Given the description of an element on the screen output the (x, y) to click on. 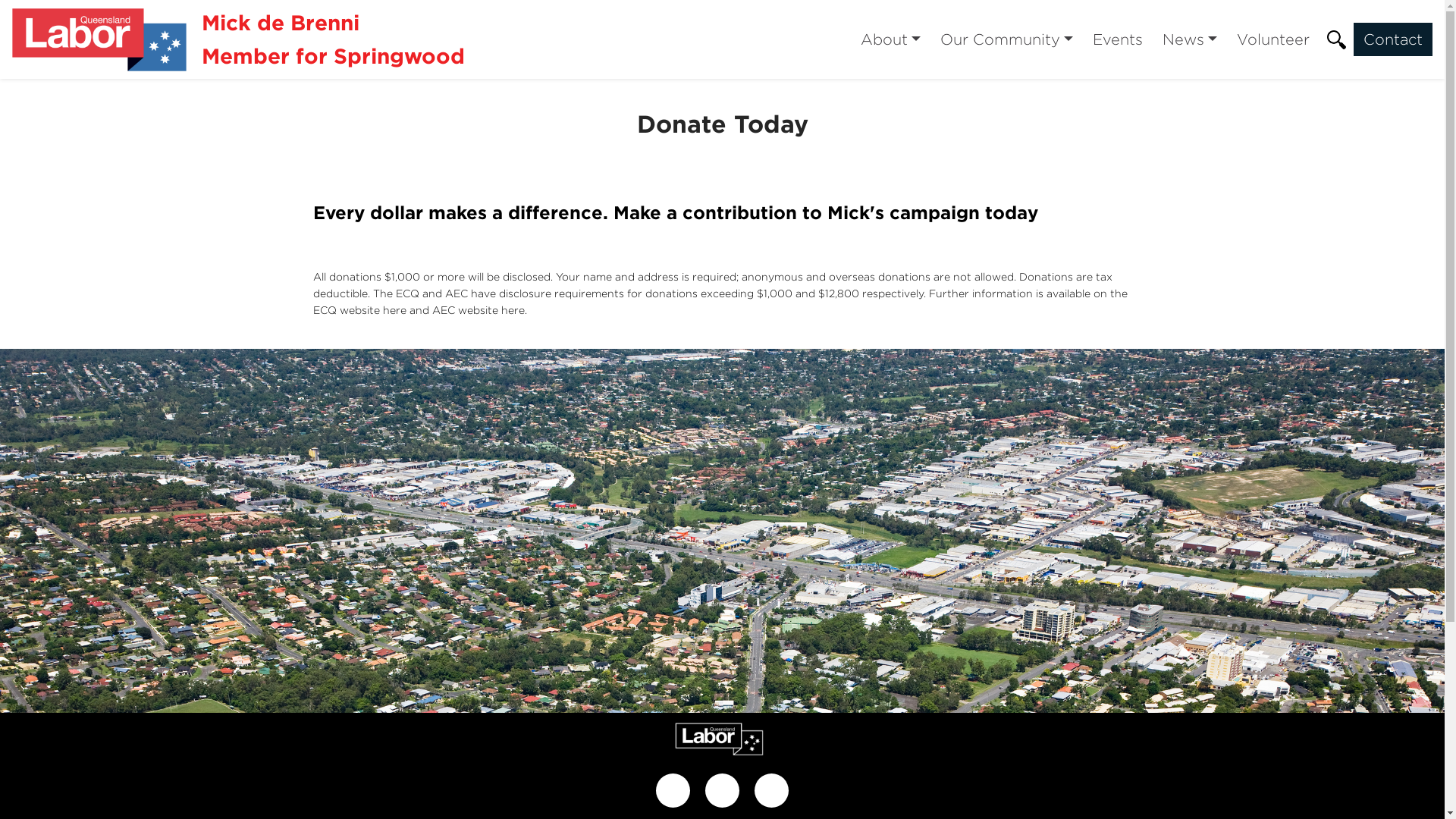
here Element type: text (512, 309)
Volunteer Element type: text (1272, 39)
Our Community Element type: text (1006, 39)
Events Element type: text (1117, 39)
News Element type: text (1189, 39)
About Element type: text (890, 39)
here Element type: text (393, 309)
Contact Element type: text (1392, 39)
